Given the description of an element on the screen output the (x, y) to click on. 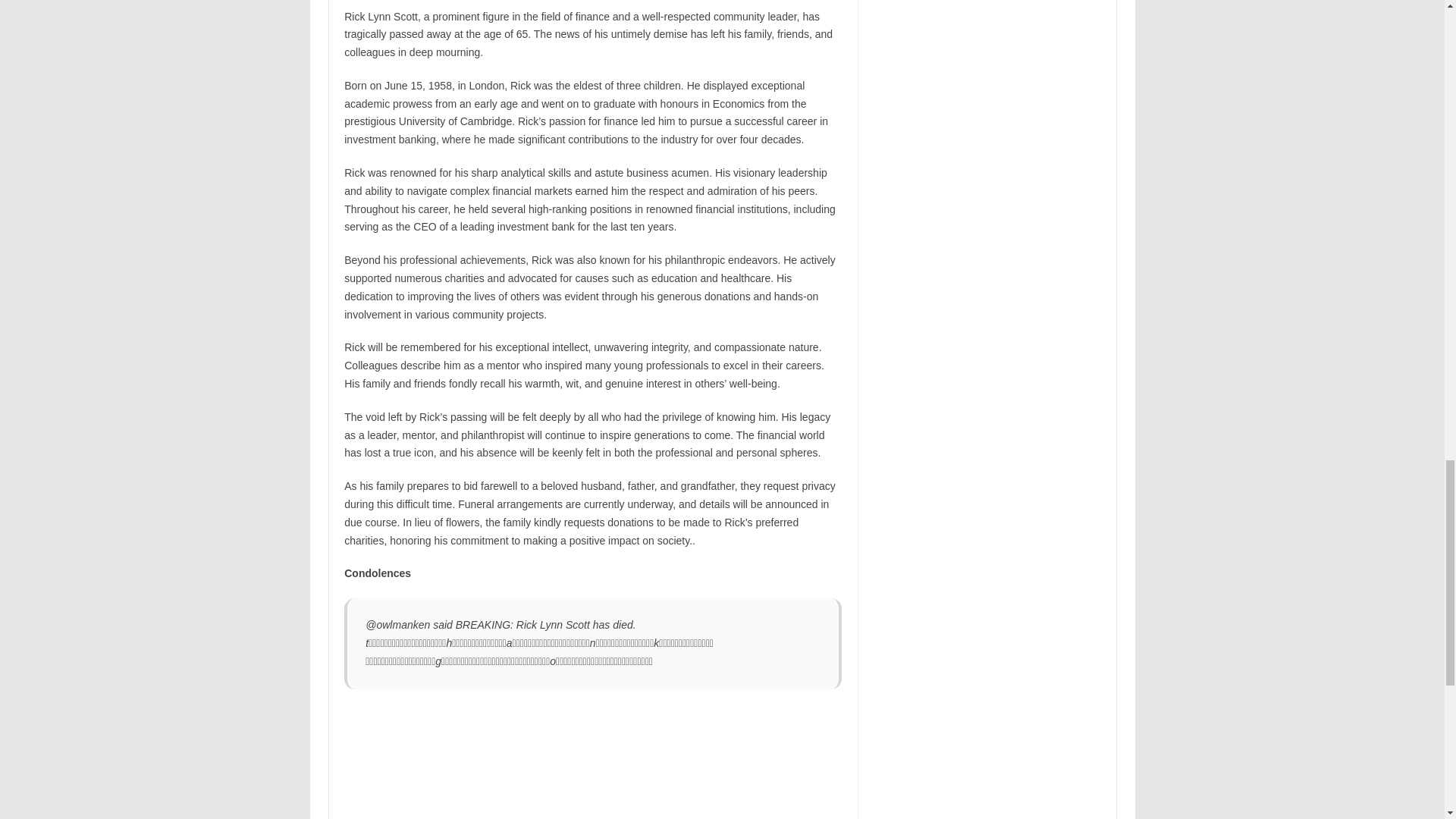
YouTube video player (555, 763)
